Given the description of an element on the screen output the (x, y) to click on. 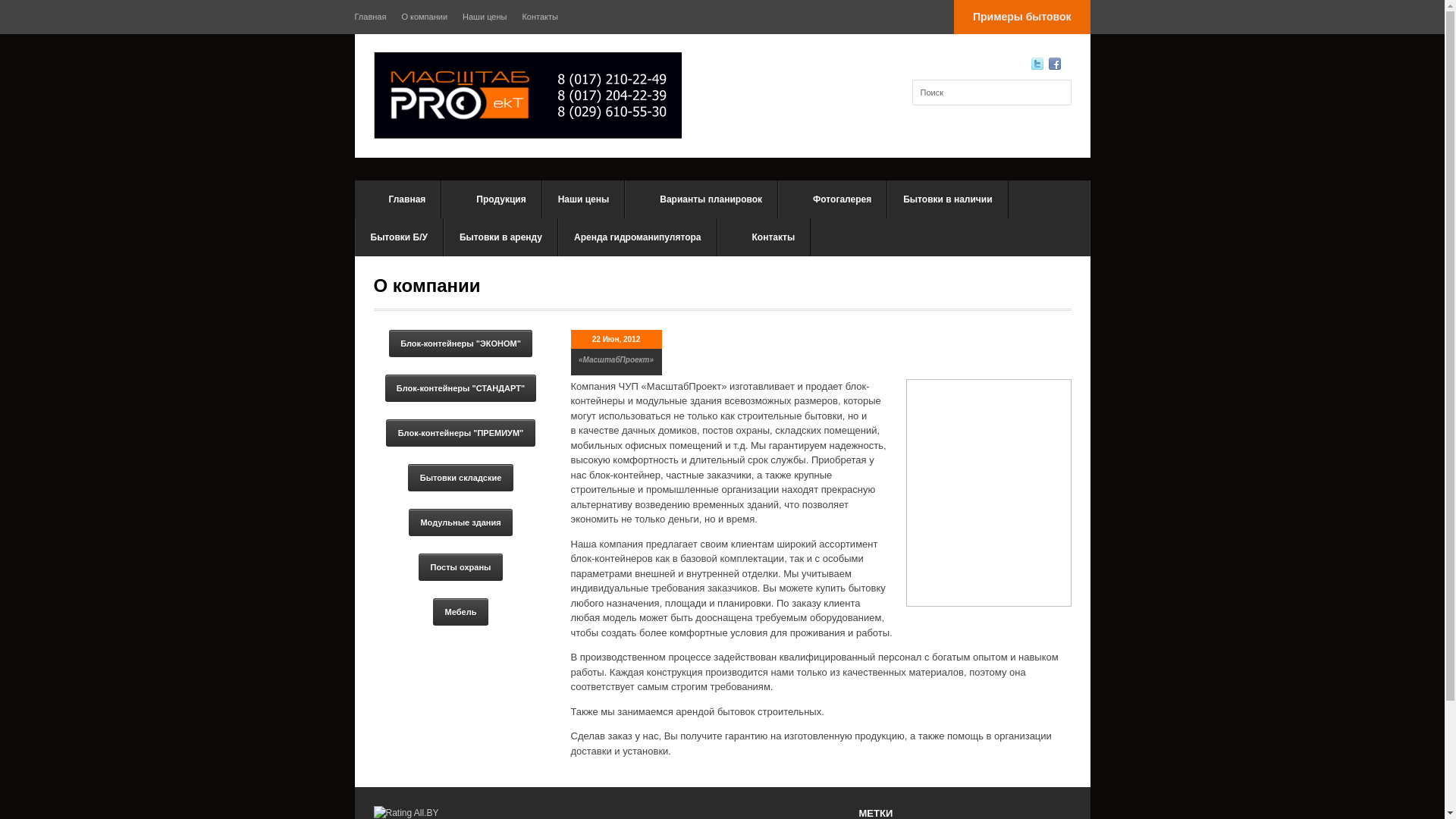
facebook Element type: hover (1054, 63)
twitter Element type: hover (1037, 63)
